Given the description of an element on the screen output the (x, y) to click on. 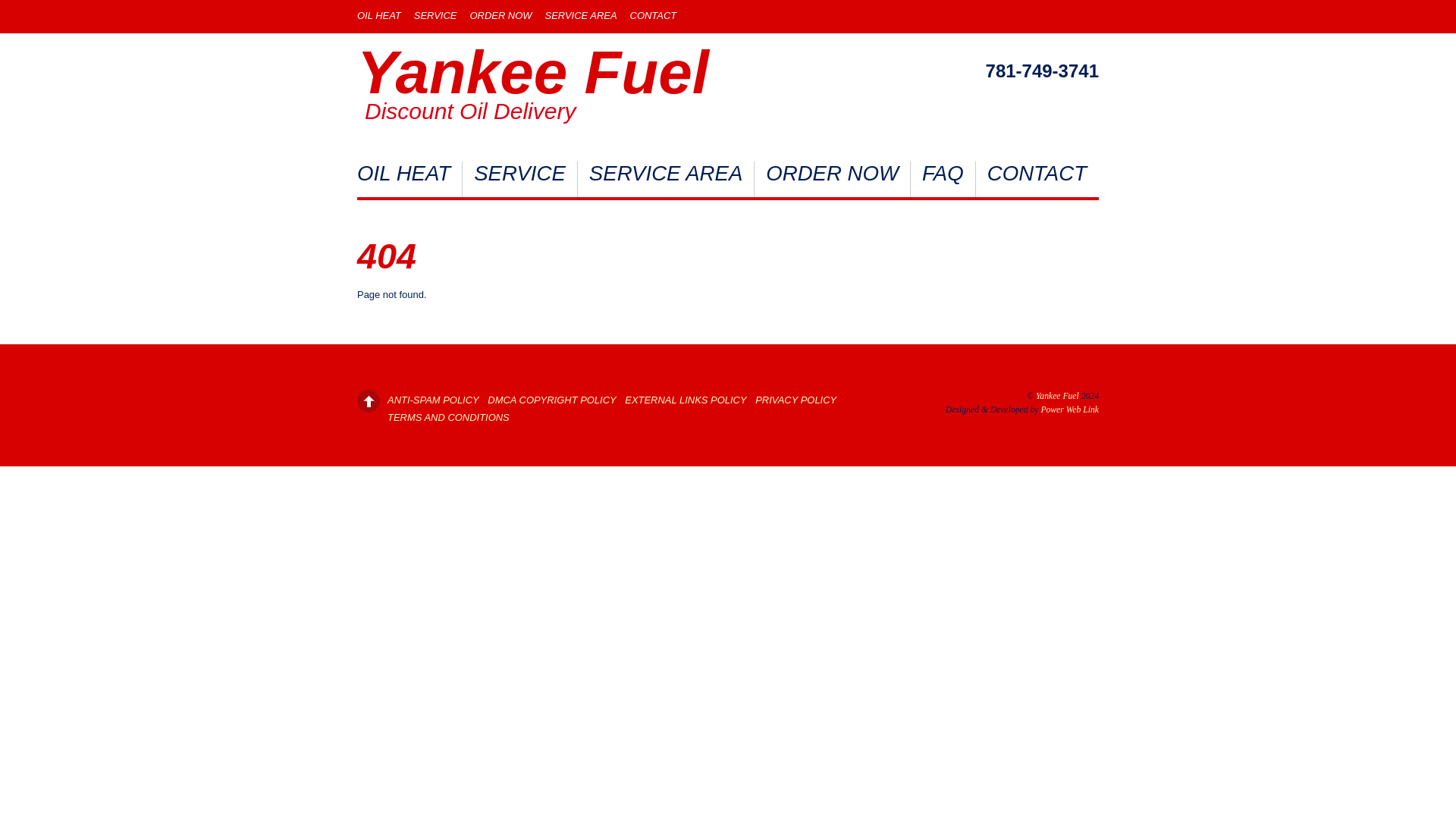
FAQ (943, 179)
Yankee Fuel (1056, 396)
EXTERNAL LINKS POLICY (684, 399)
DMCA COPYRIGHT POLICY (551, 399)
TERMS AND CONDITIONS (448, 417)
OIL HEAT (409, 179)
PRIVACY POLICY (795, 399)
SERVICE AREA (580, 15)
CONTACT (653, 15)
ORDER NOW (499, 15)
Yankee Fuel (532, 72)
Yankee Fuel (532, 72)
CONTACT (1036, 179)
OIL HEAT (378, 15)
SERVICE (520, 179)
